Given the description of an element on the screen output the (x, y) to click on. 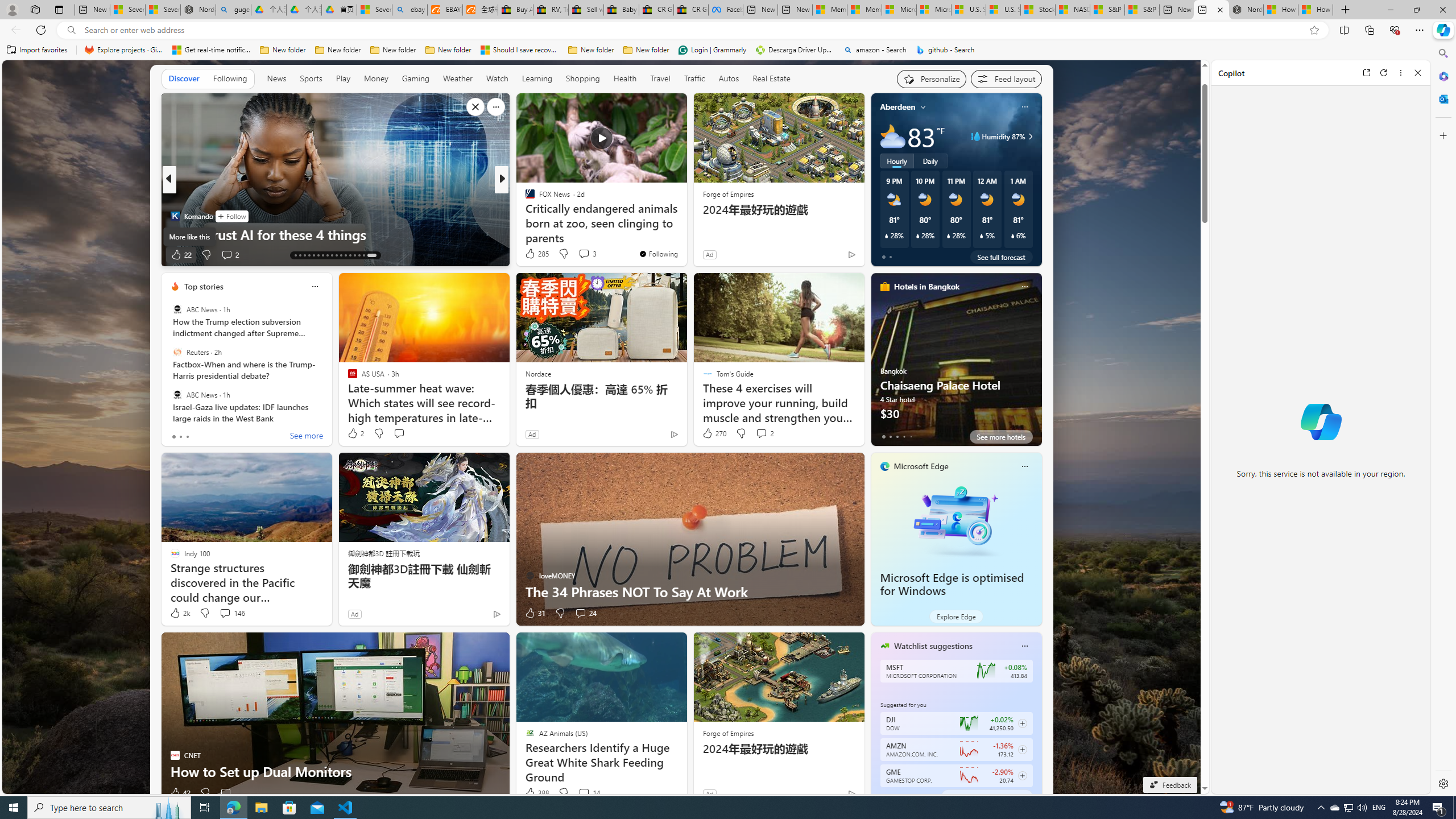
tab-1 (889, 795)
Real Estate (771, 79)
See more hotels (1000, 436)
ABC News (176, 394)
Class: weather-arrow-glyph (1029, 136)
Follow (231, 216)
AutomationID: tab-15 (304, 255)
guge yunpan - Search (233, 9)
